Given the description of an element on the screen output the (x, y) to click on. 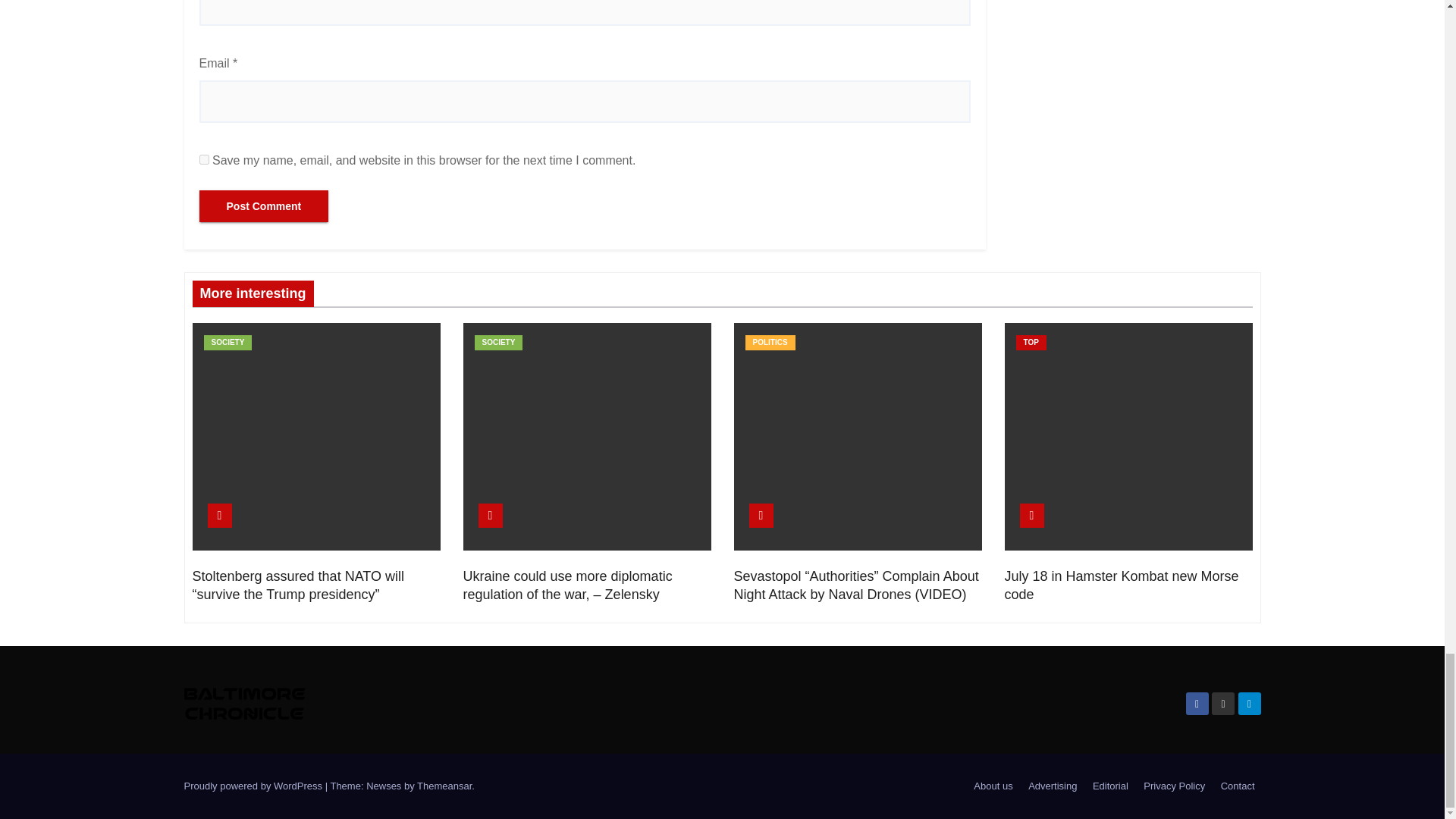
yes (203, 159)
Post Comment (263, 205)
